Given the description of an element on the screen output the (x, y) to click on. 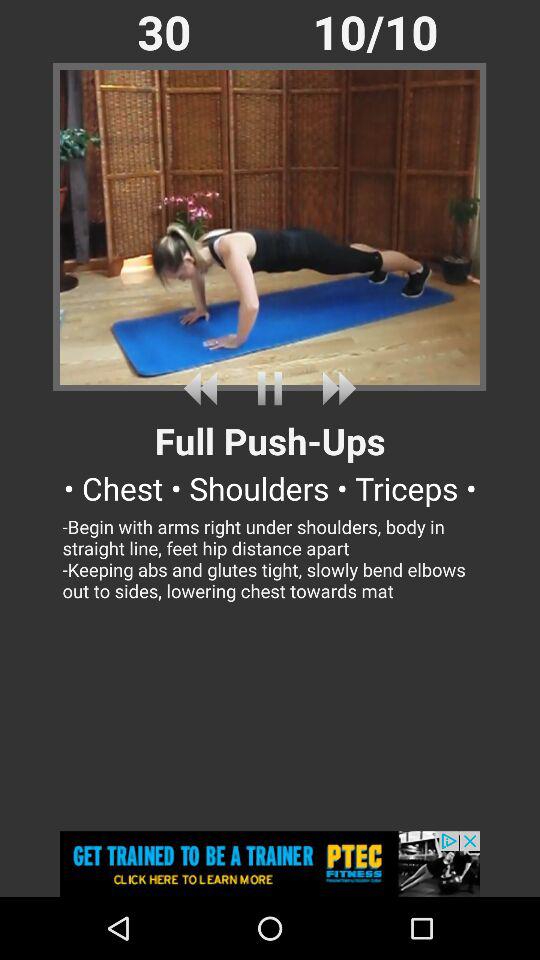
go back (204, 388)
